Given the description of an element on the screen output the (x, y) to click on. 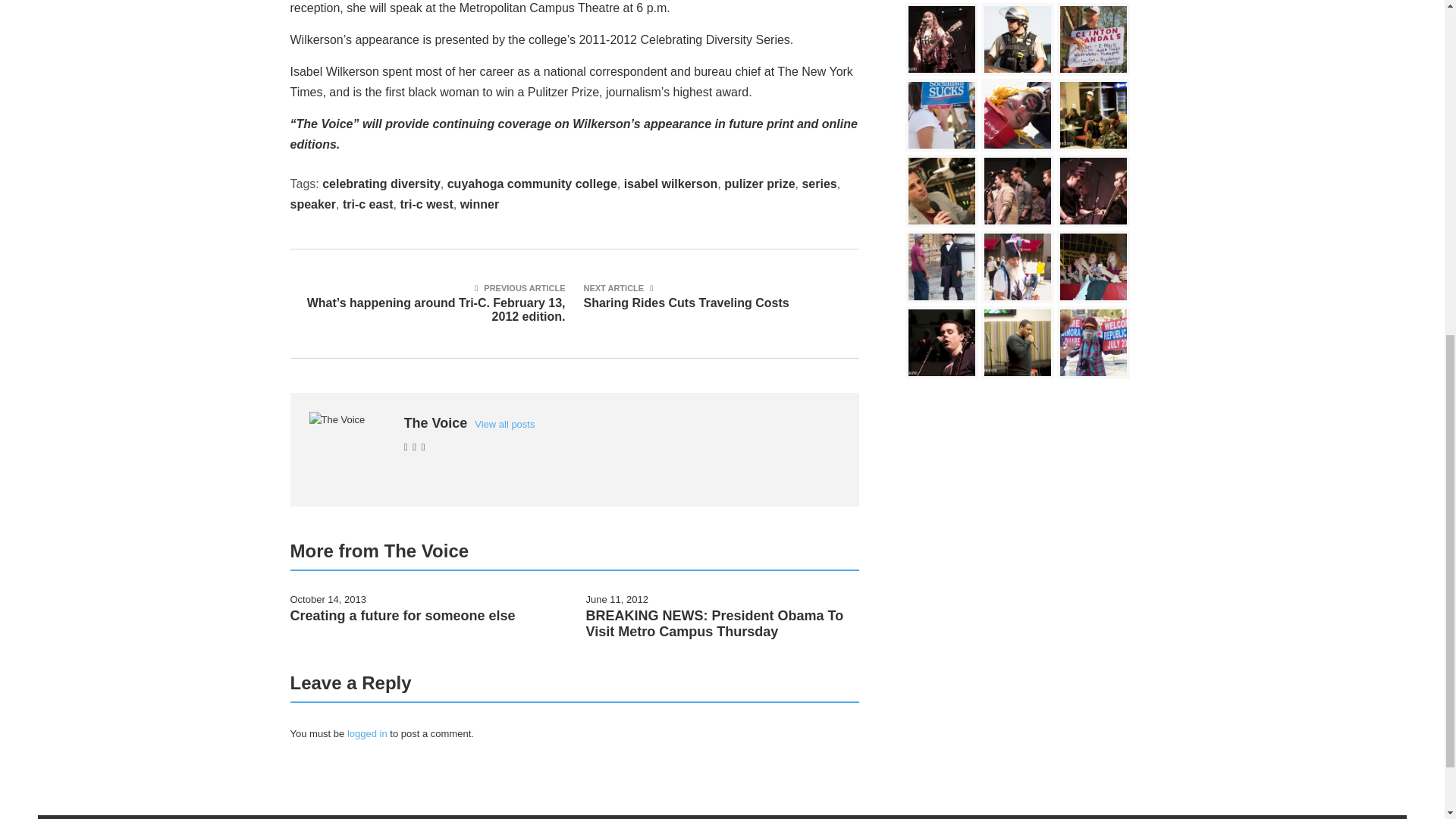
IMG 1092 (1017, 266)
View all posts (504, 423)
isabel wilkerson (670, 183)
381 (717, 295)
celebrating diversity (1093, 266)
speaker (381, 183)
IMG 1294 (312, 204)
cuyahoga community college (1017, 114)
tri-c east (531, 183)
series (367, 204)
tri-c west (818, 183)
winner (425, 204)
pulizer prize (479, 204)
